Given the description of an element on the screen output the (x, y) to click on. 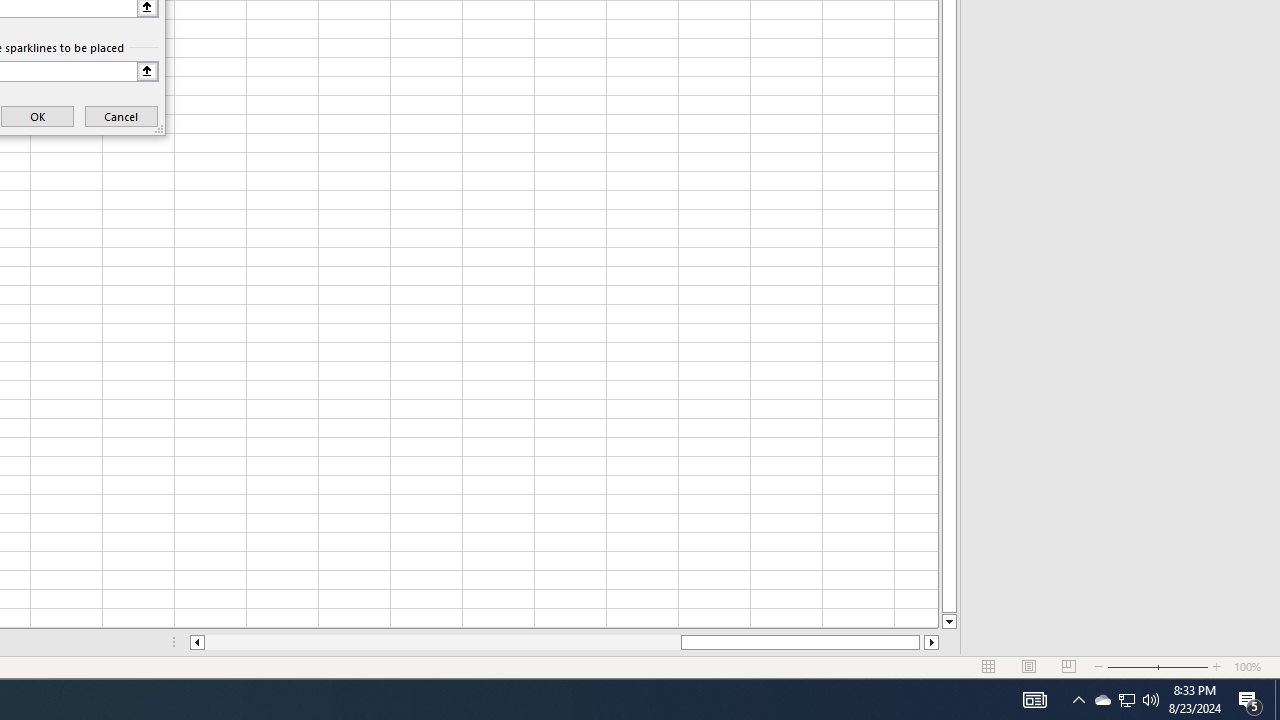
Page left (442, 642)
